Given the description of an element on the screen output the (x, y) to click on. 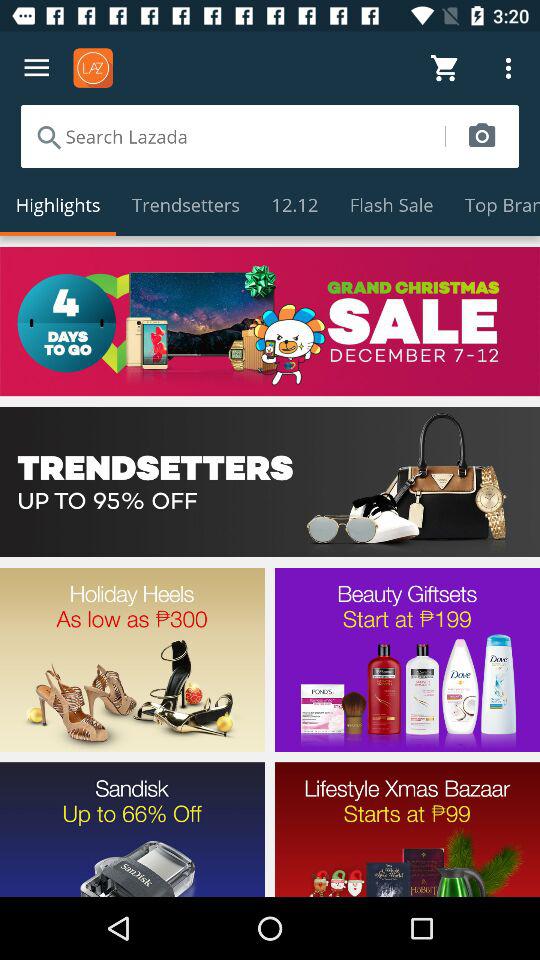
view the main menu (36, 68)
